Given the description of an element on the screen output the (x, y) to click on. 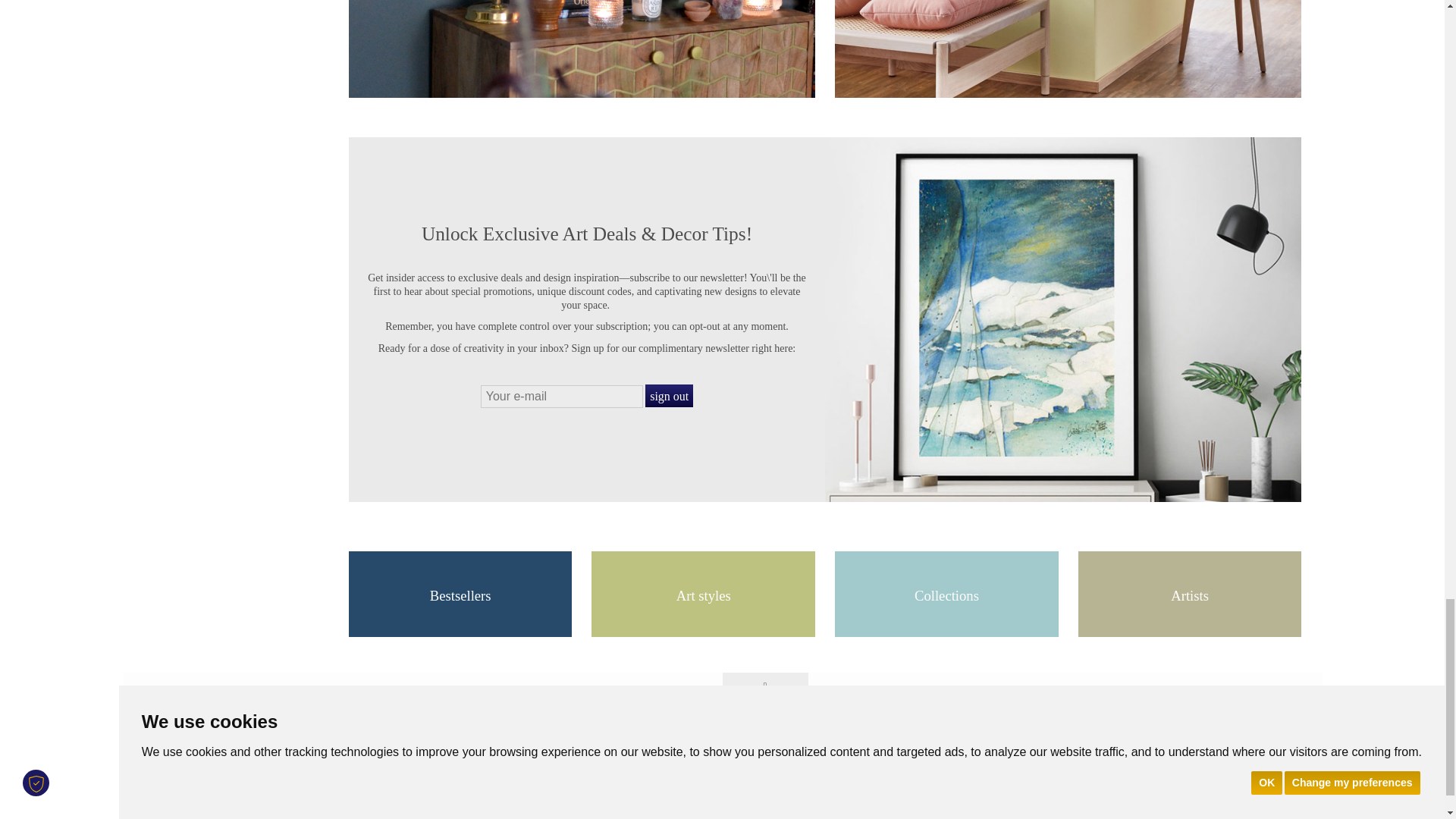
sign out (669, 395)
